Given the description of an element on the screen output the (x, y) to click on. 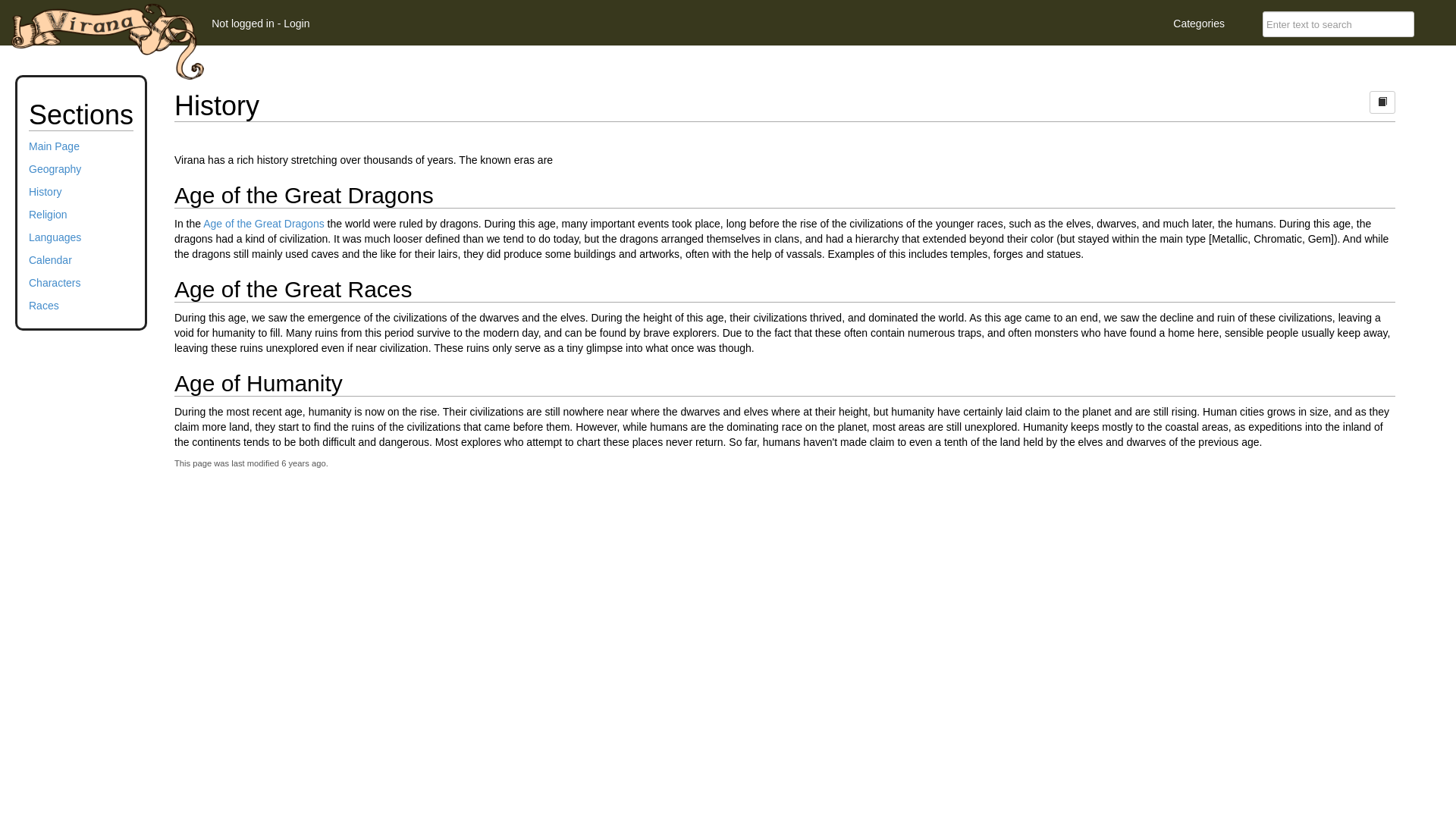
Geography Element type: text (54, 169)
History Element type: text (45, 191)
Login Element type: text (296, 23)
Page information Element type: hover (1382, 102)
Languages Element type: text (54, 237)
Religion Element type: text (47, 214)
Categories Element type: text (1198, 23)
Main Page Element type: text (53, 146)
Calendar Element type: text (50, 260)
Races Element type: text (43, 305)
Characters Element type: text (54, 282)
Age of the Great Dragons Element type: text (263, 223)
